Given the description of an element on the screen output the (x, y) to click on. 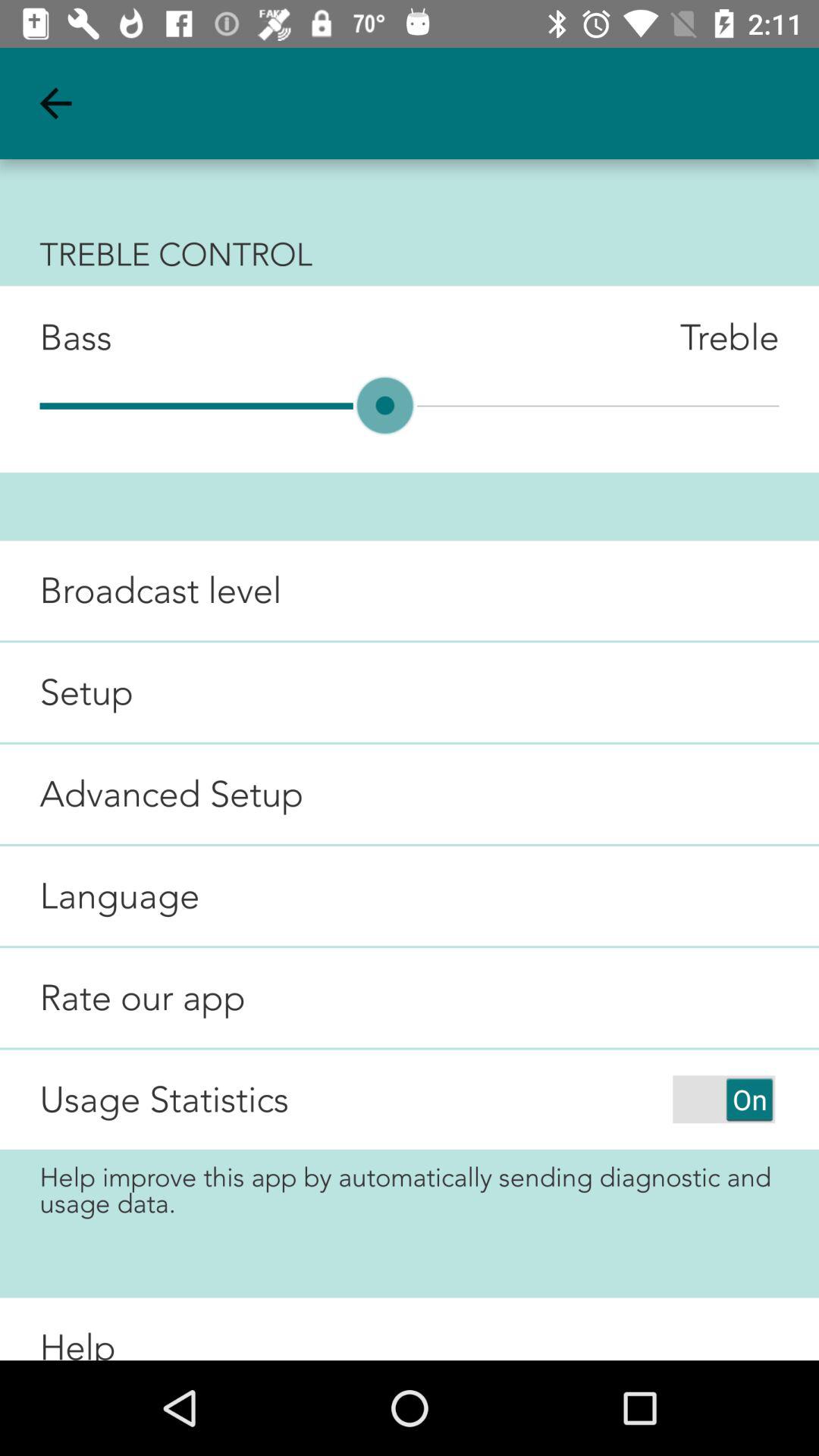
turn off and on usage statistics (723, 1099)
